Given the description of an element on the screen output the (x, y) to click on. 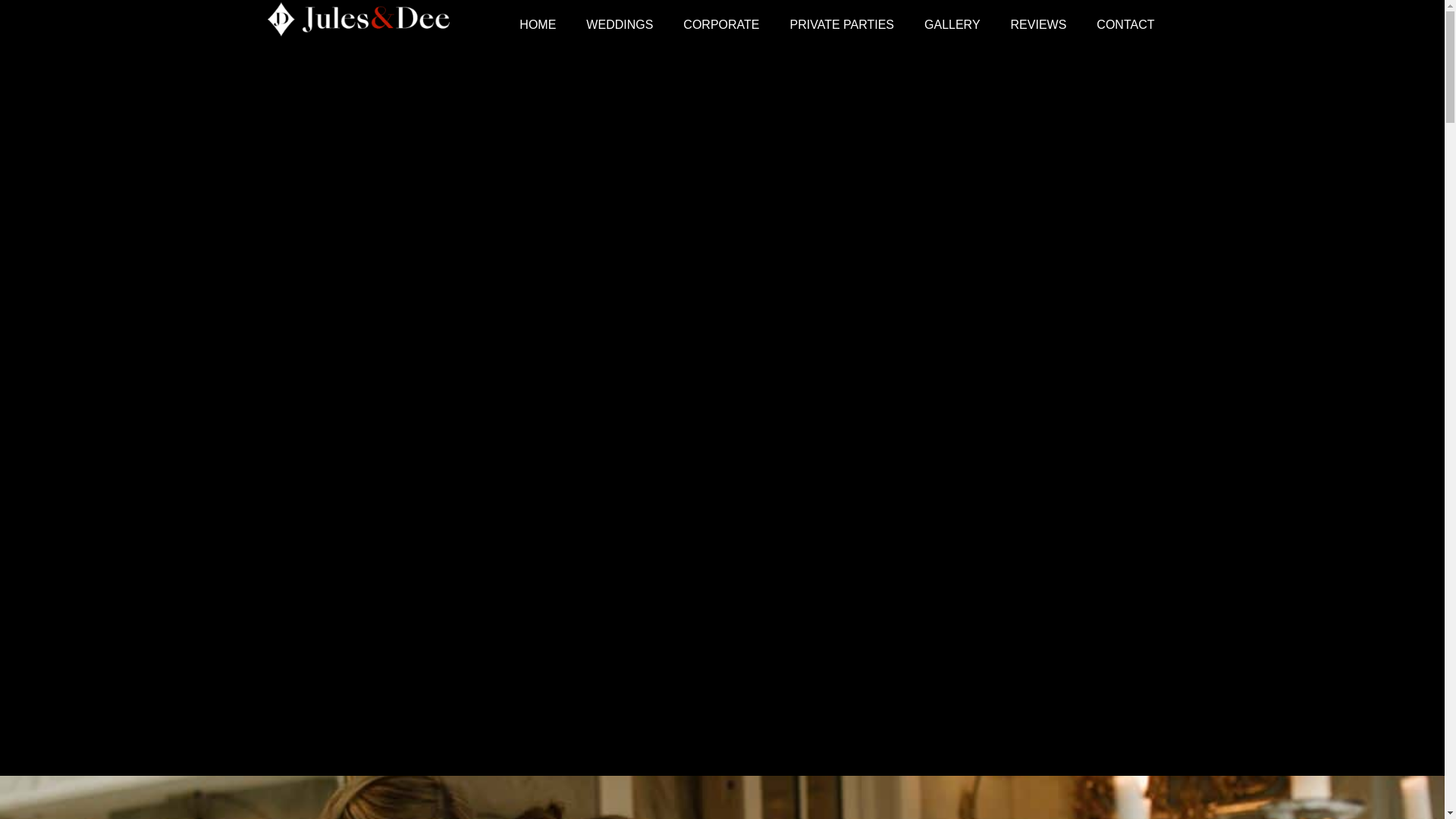
PRIVATE PARTIES (842, 24)
REVIEWS (1038, 24)
CONTACT (1125, 24)
WEDDINGS (619, 24)
HOME (536, 24)
GALLERY (951, 24)
CORPORATE (721, 24)
